Given the description of an element on the screen output the (x, y) to click on. 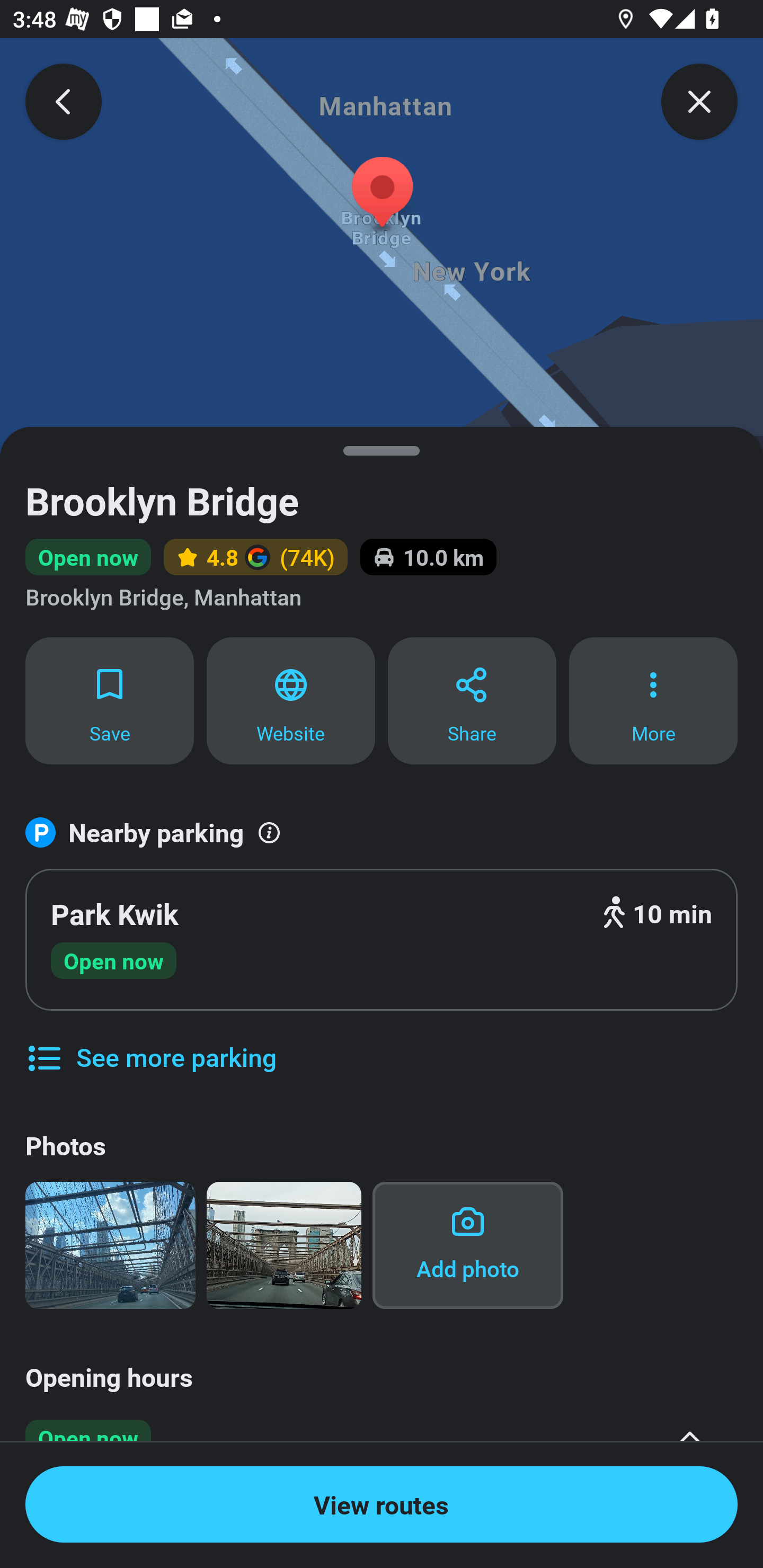
Save (109, 700)
Website (290, 700)
Share (471, 700)
More (653, 700)
Park Kwik 10 min Open now (381, 939)
See more parking (150, 1043)
Add photo (467, 1245)
View routes (381, 1504)
